Given the description of an element on the screen output the (x, y) to click on. 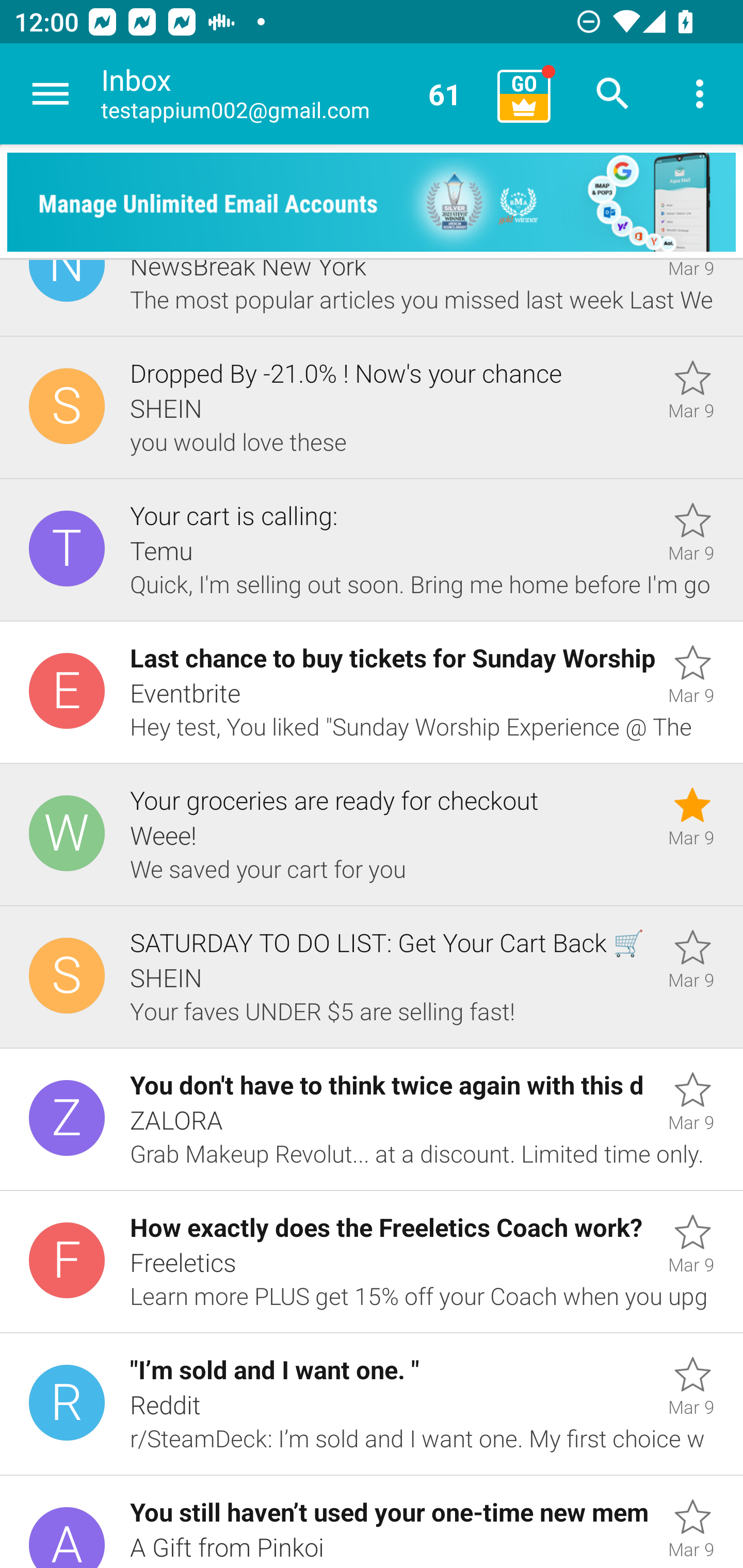
Navigate up (50, 93)
Inbox testappium002@gmail.com 61 (291, 93)
Search (612, 93)
More options (699, 93)
